Given the description of an element on the screen output the (x, y) to click on. 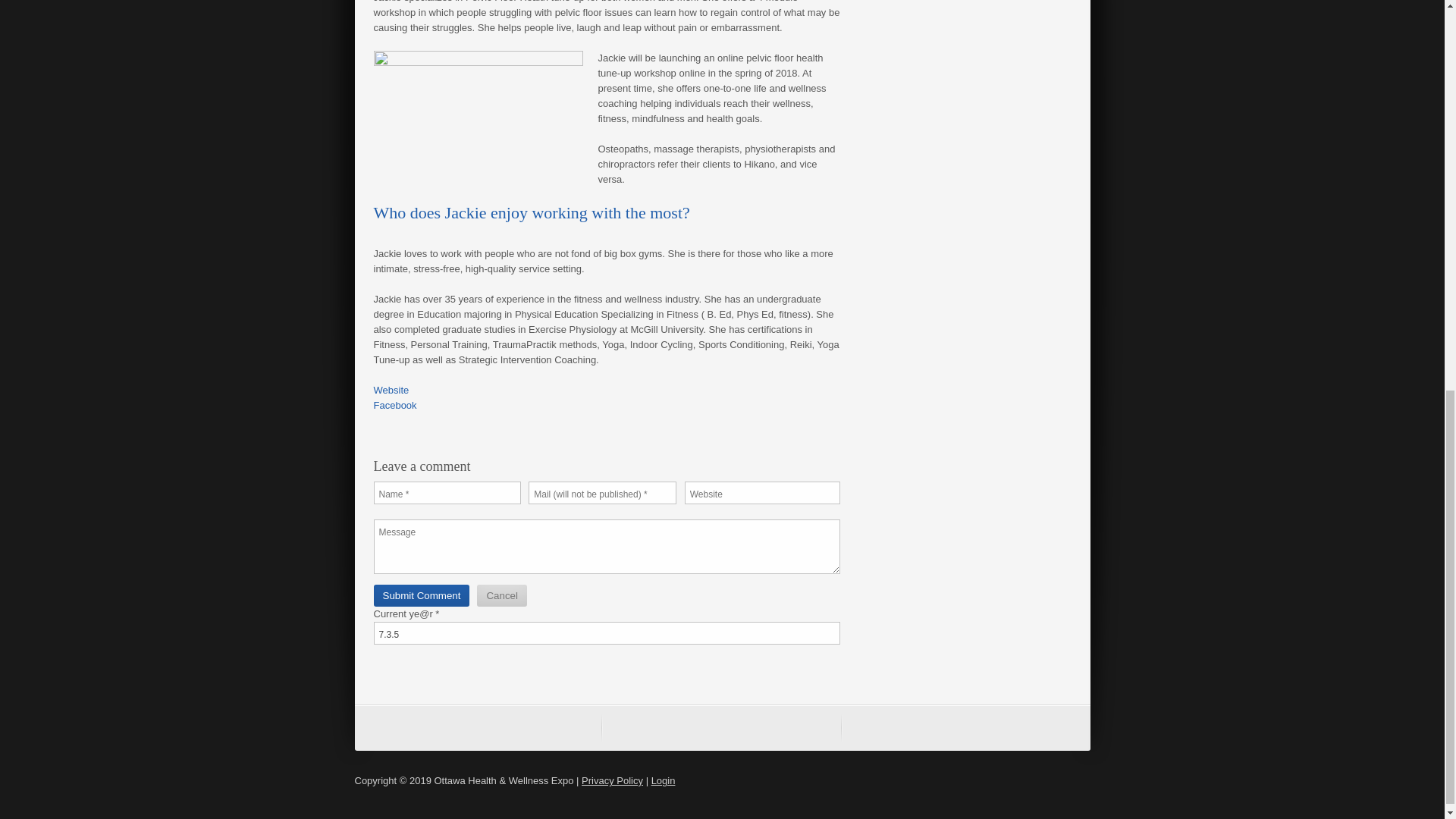
Cancel (502, 595)
7.3.5 (606, 632)
Submit Comment (420, 595)
